Given the description of an element on the screen output the (x, y) to click on. 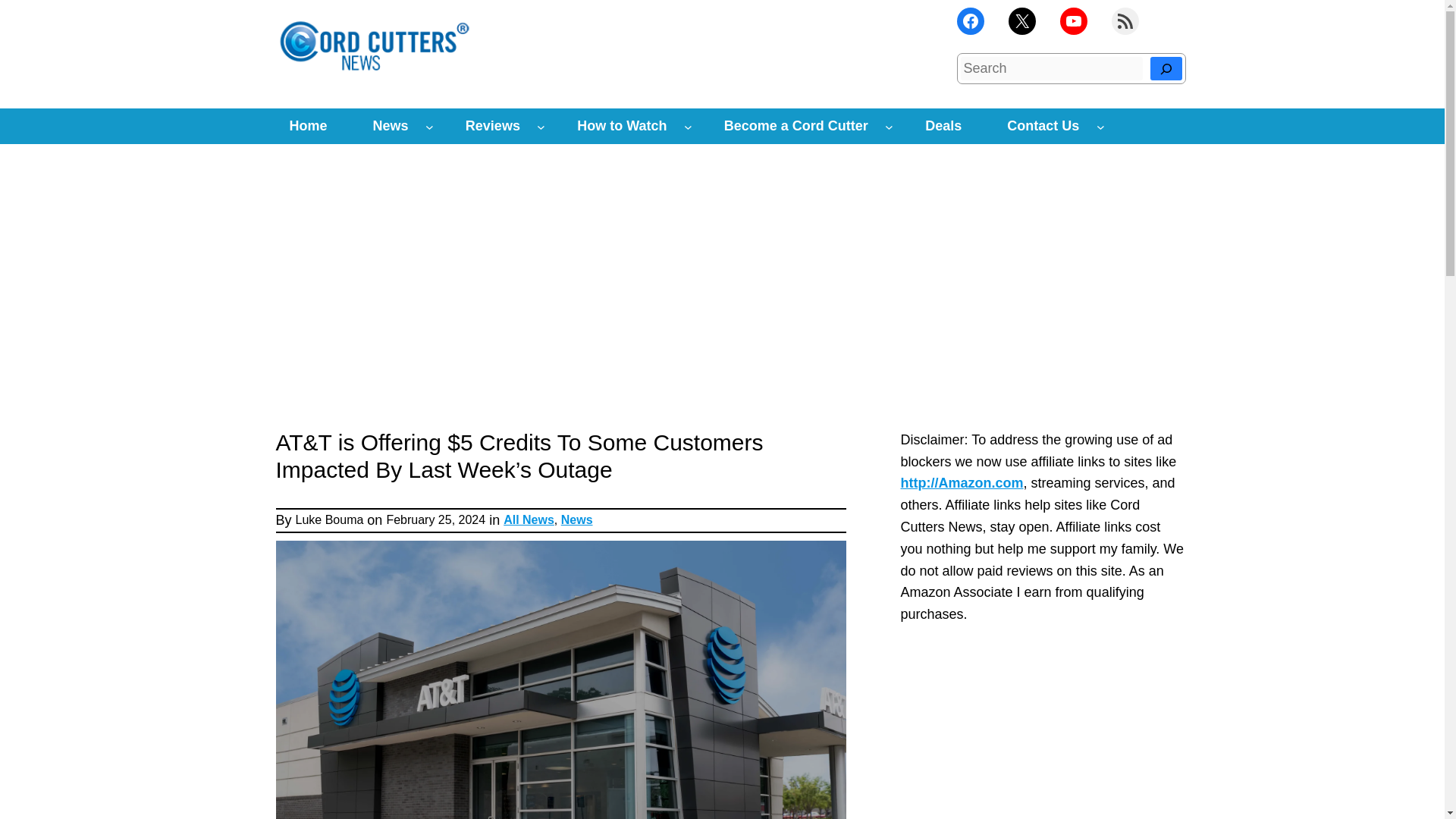
RSS Feed (1125, 21)
News (390, 126)
Facebook (970, 21)
Home (308, 126)
YouTube (1073, 21)
Reviews (492, 126)
X (1022, 21)
